Given the description of an element on the screen output the (x, y) to click on. 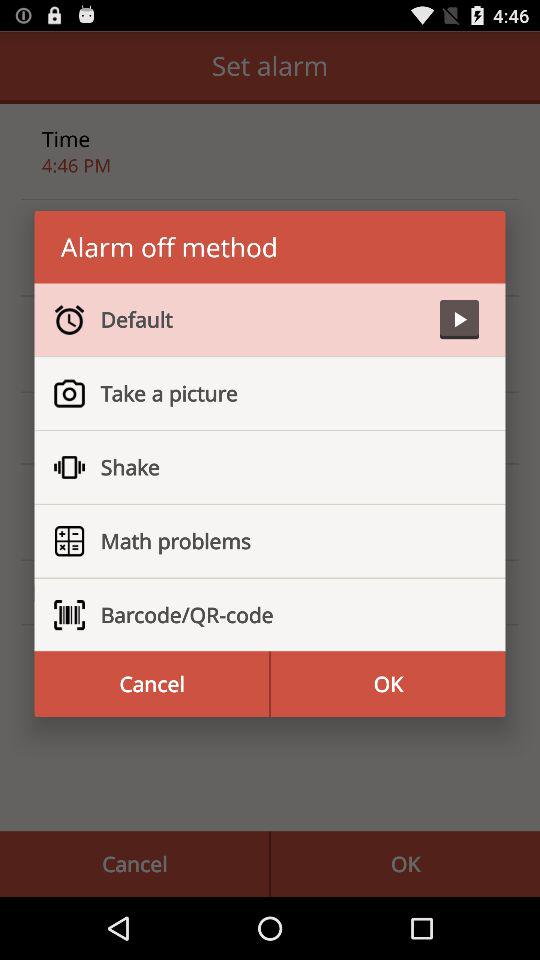
turn off the icon below the math problems icon (281, 615)
